Given the description of an element on the screen output the (x, y) to click on. 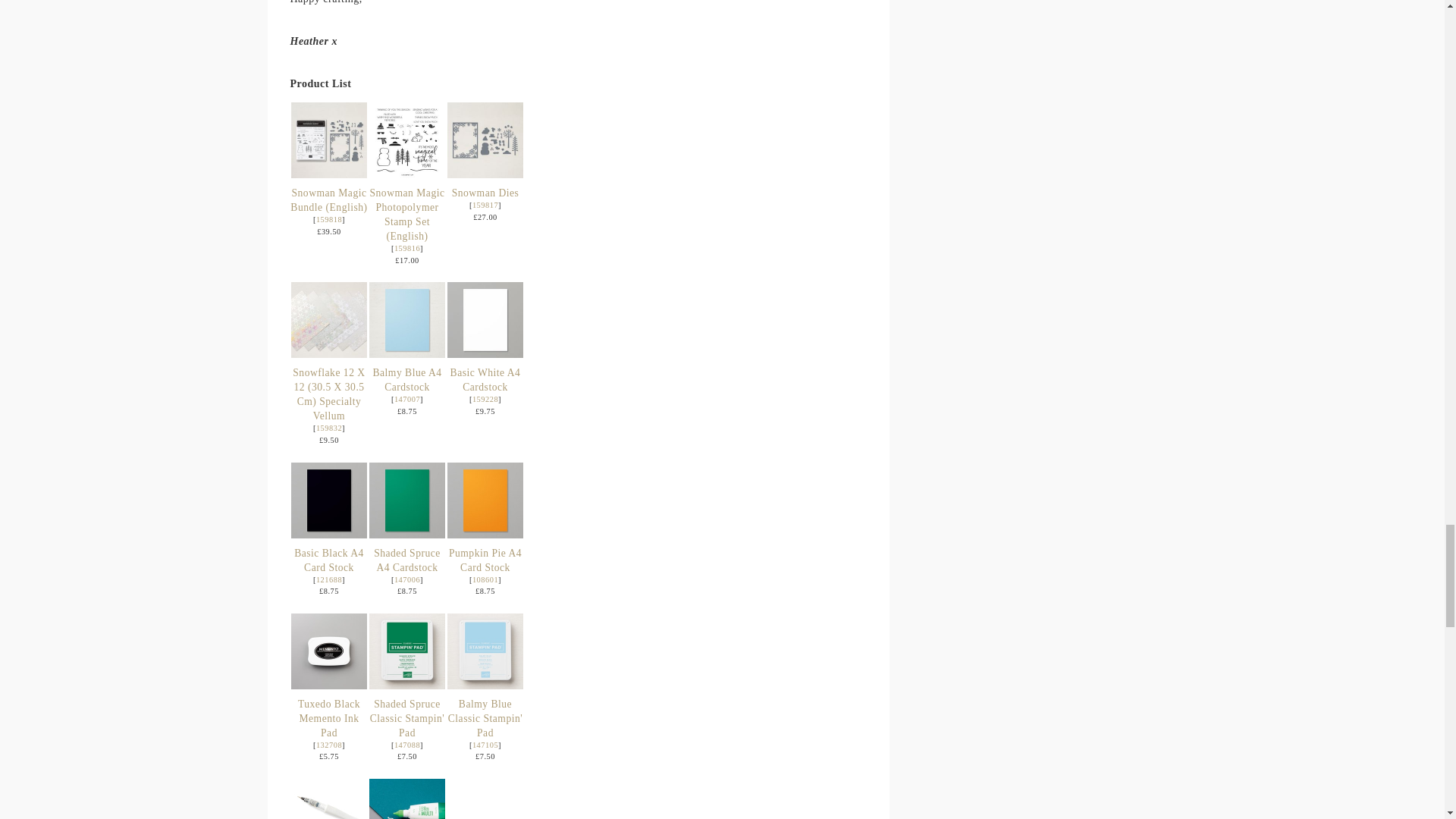
Snowman Dies (485, 193)
159832 (328, 428)
Snowman Dies (484, 174)
Snowman Dies (484, 204)
159817 (484, 204)
159816 (407, 248)
Snowman Dies (484, 140)
Snowman Dies (485, 193)
159818 (328, 219)
